Given the description of an element on the screen output the (x, y) to click on. 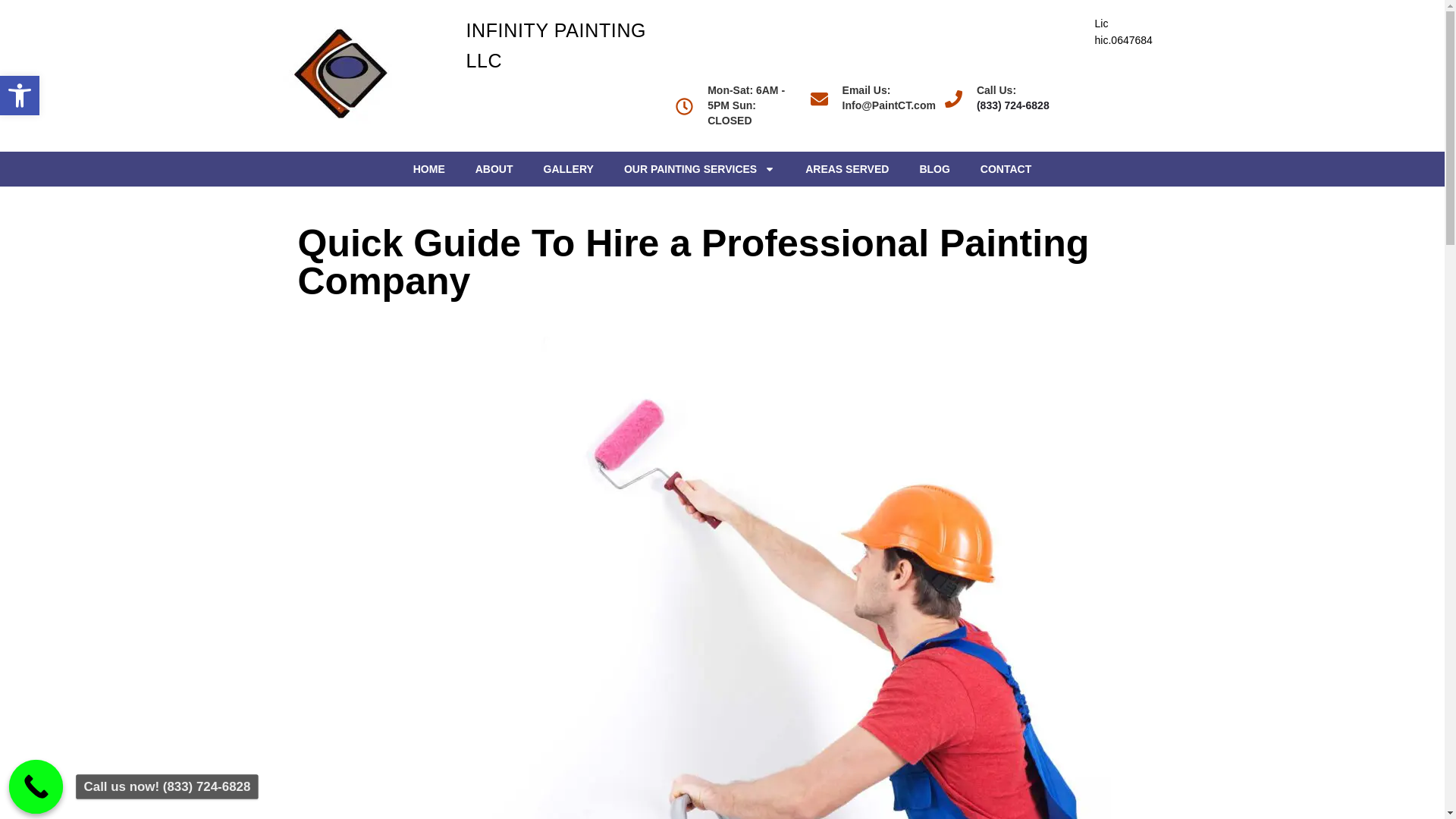
HOME (428, 168)
BLOG (933, 168)
GALLERY (568, 168)
INFINITY PAINTING LLC (555, 45)
AREAS SERVED (847, 168)
Accessibility Tools (19, 95)
Mon-Sat: 6AM - 5PM Sun: CLOSED (734, 105)
OUR PAINTING SERVICES (699, 168)
ABOUT (19, 95)
Accessibility Tools (494, 168)
